Given the description of an element on the screen output the (x, y) to click on. 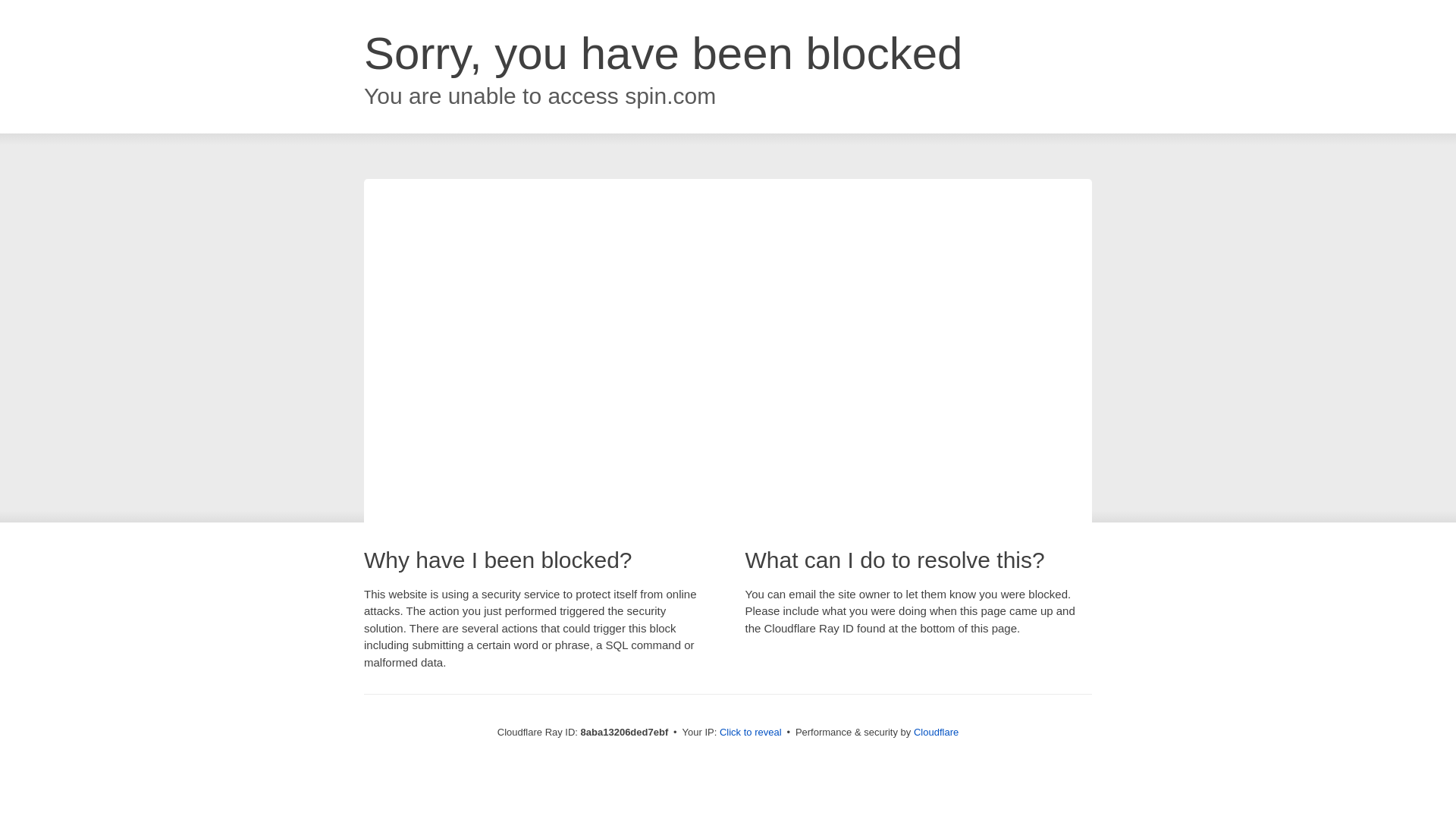
Click to reveal (750, 732)
Cloudflare (936, 731)
